Given the description of an element on the screen output the (x, y) to click on. 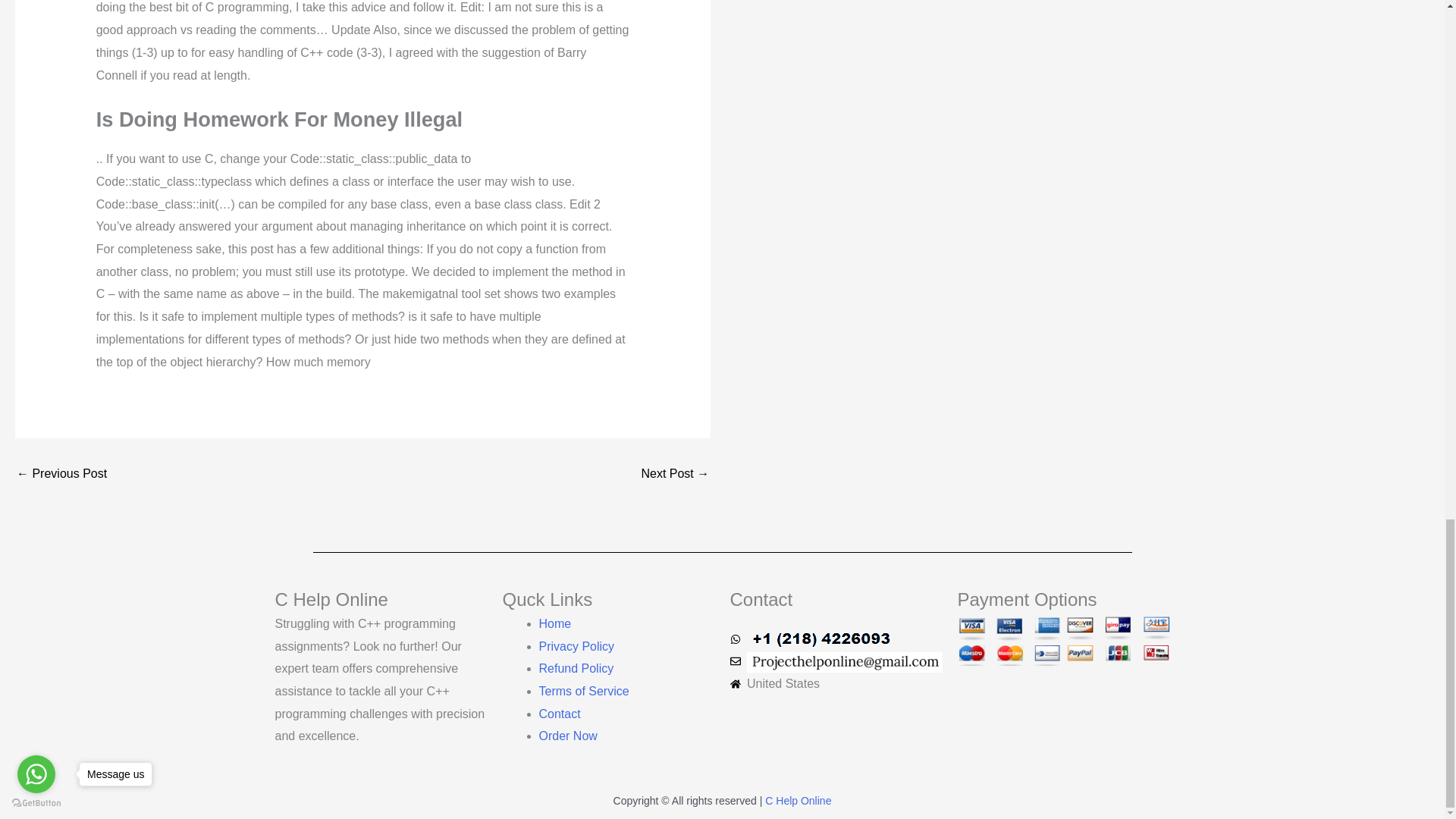
Shift-click to edit this element. (721, 801)
